Given the description of an element on the screen output the (x, y) to click on. 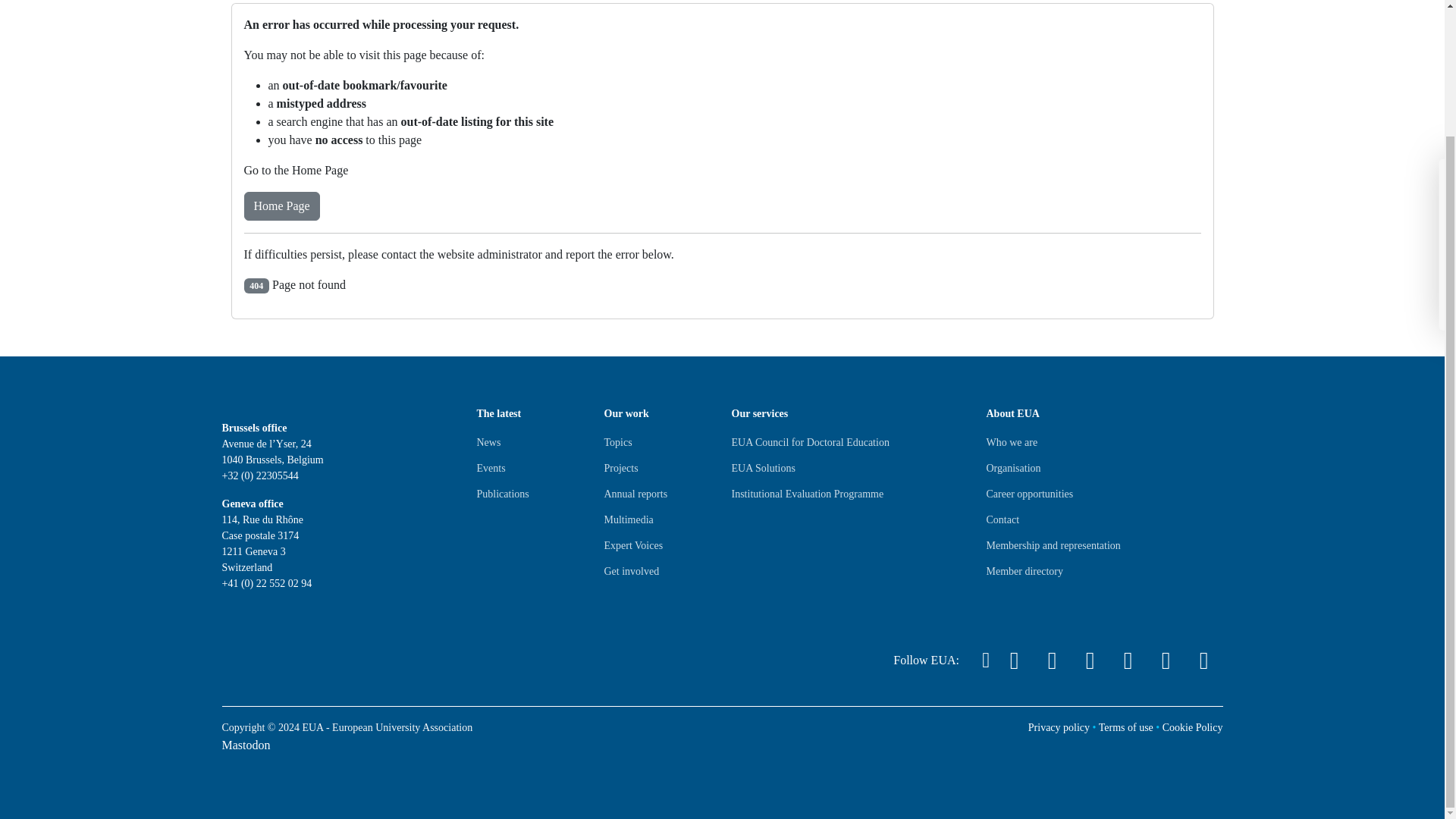
EUA Facebook (1089, 660)
Projects (620, 468)
EUA Youtube (1127, 660)
EUA Twitter (1013, 660)
Expert Voices (633, 545)
Get involved (631, 571)
EUA Solutions (762, 468)
EUA Council for Doctoral Education (809, 442)
Topics (617, 442)
EUA Apple Podcasts (1204, 660)
Events (490, 468)
Multimedia (628, 519)
News (488, 442)
Annual reports (635, 494)
EUA Spotify (1166, 660)
